Given the description of an element on the screen output the (x, y) to click on. 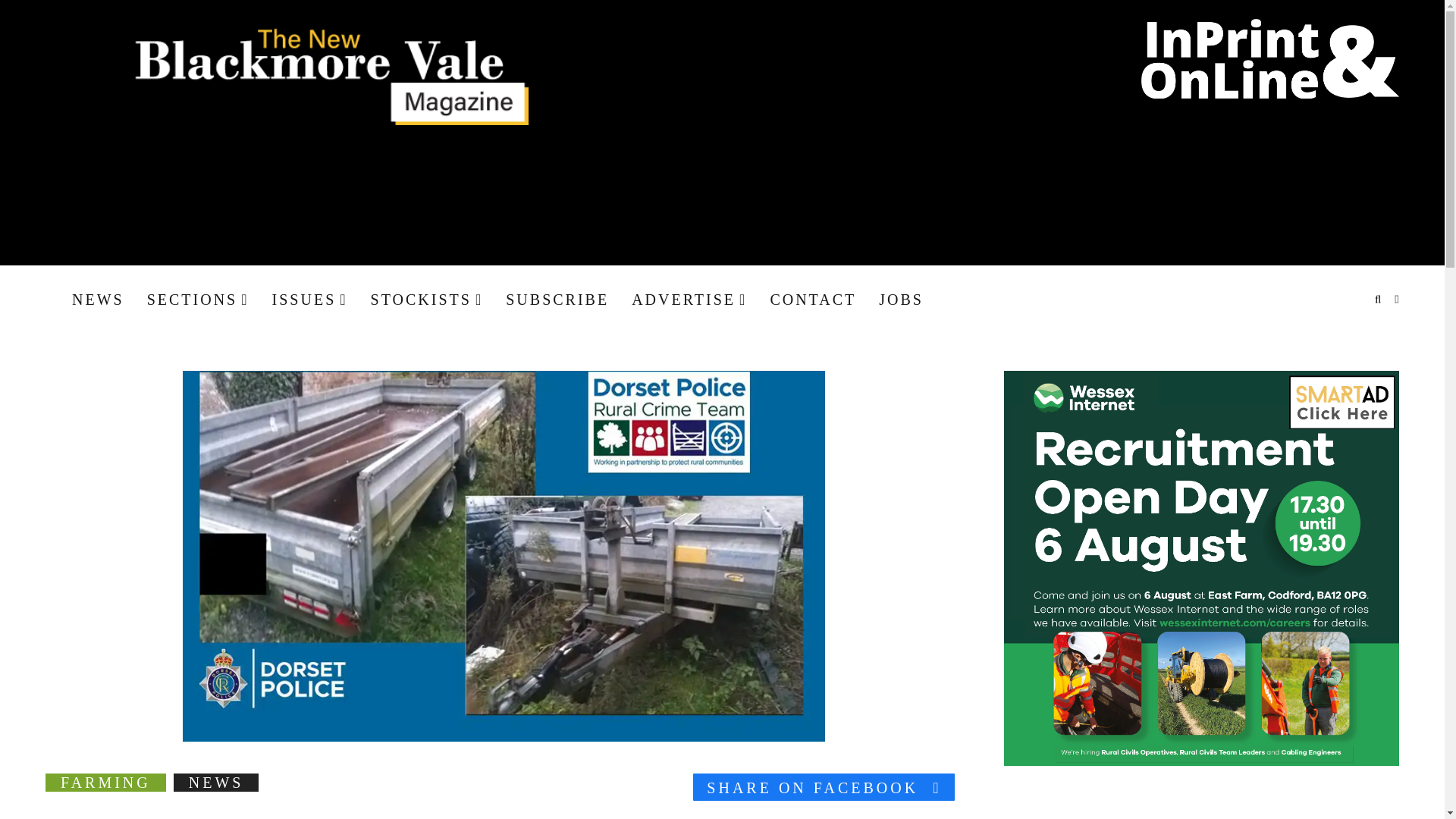
ISSUES (309, 299)
STOCKISTS (427, 299)
SUBSCRIBE (556, 299)
SECTIONS (197, 299)
ADVERTISE (688, 299)
